Given the description of an element on the screen output the (x, y) to click on. 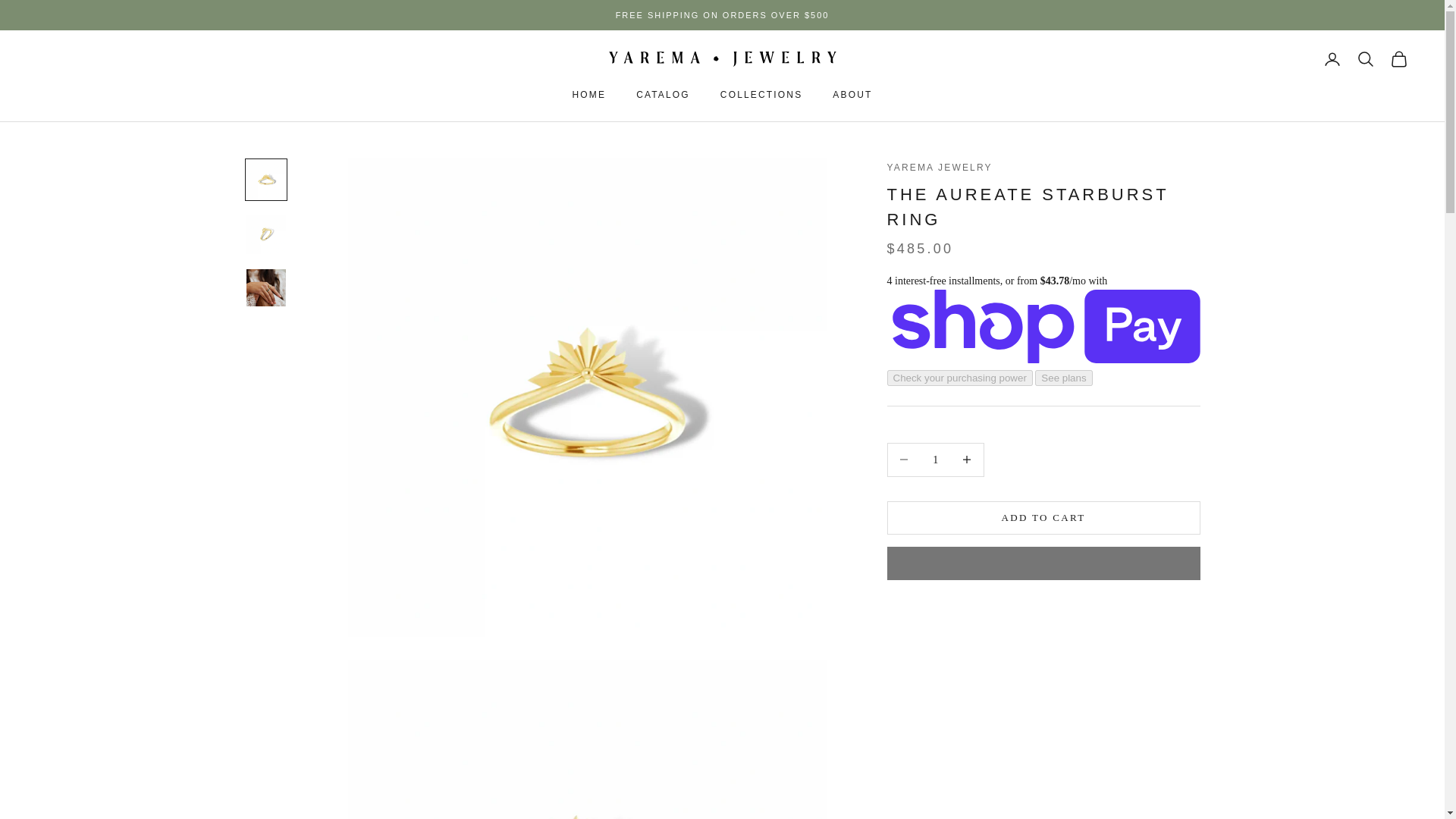
YAREMA JEWELRY (721, 58)
Open account page (1331, 58)
HOME (589, 94)
Open search (1365, 58)
1 (935, 459)
Open cart (1398, 58)
